Given the description of an element on the screen output the (x, y) to click on. 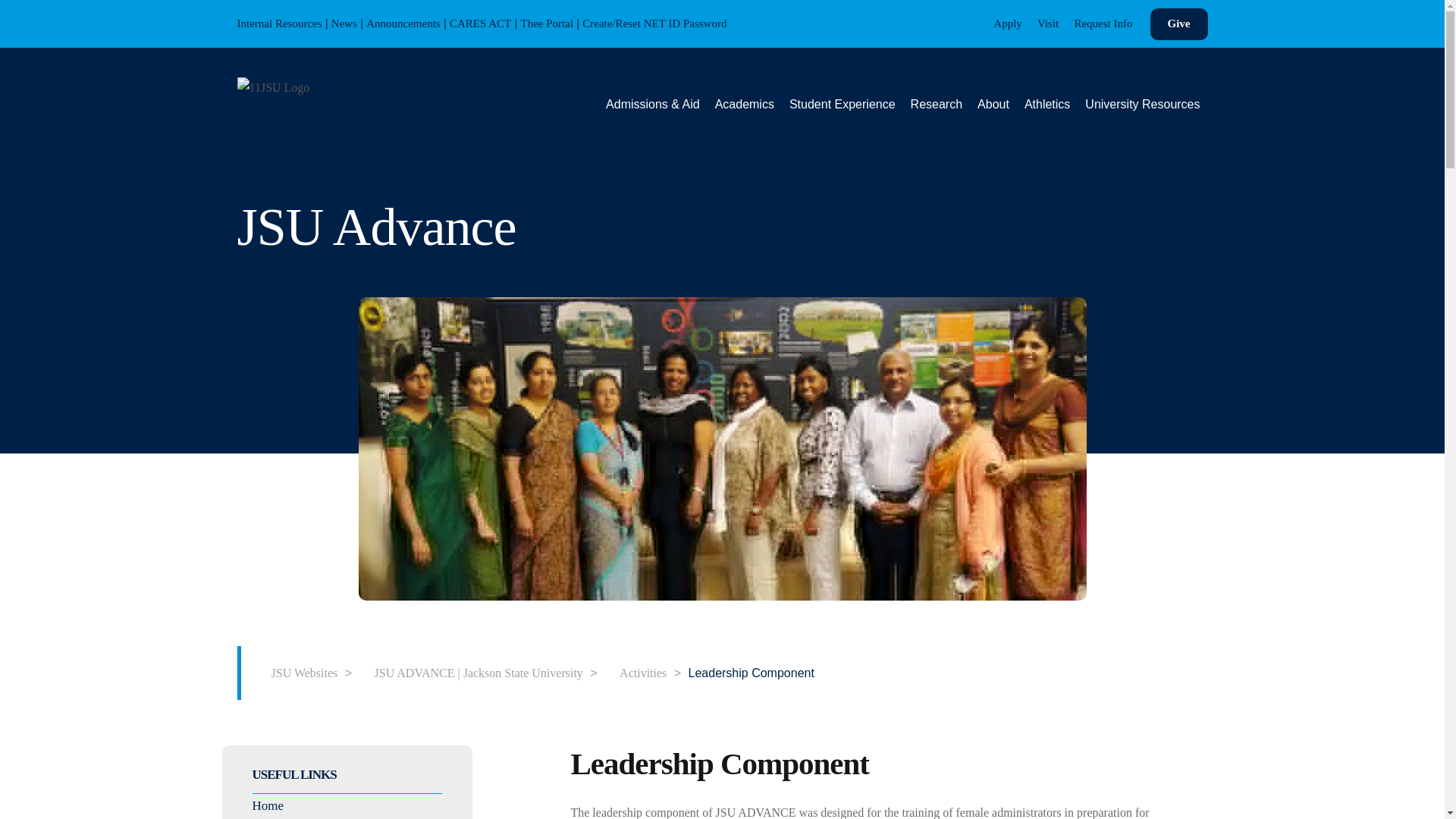
2logo (271, 86)
Go to Activities. (635, 671)
Skip to main content (11, 11)
Go to JSU Websites. (296, 671)
